Given the description of an element on the screen output the (x, y) to click on. 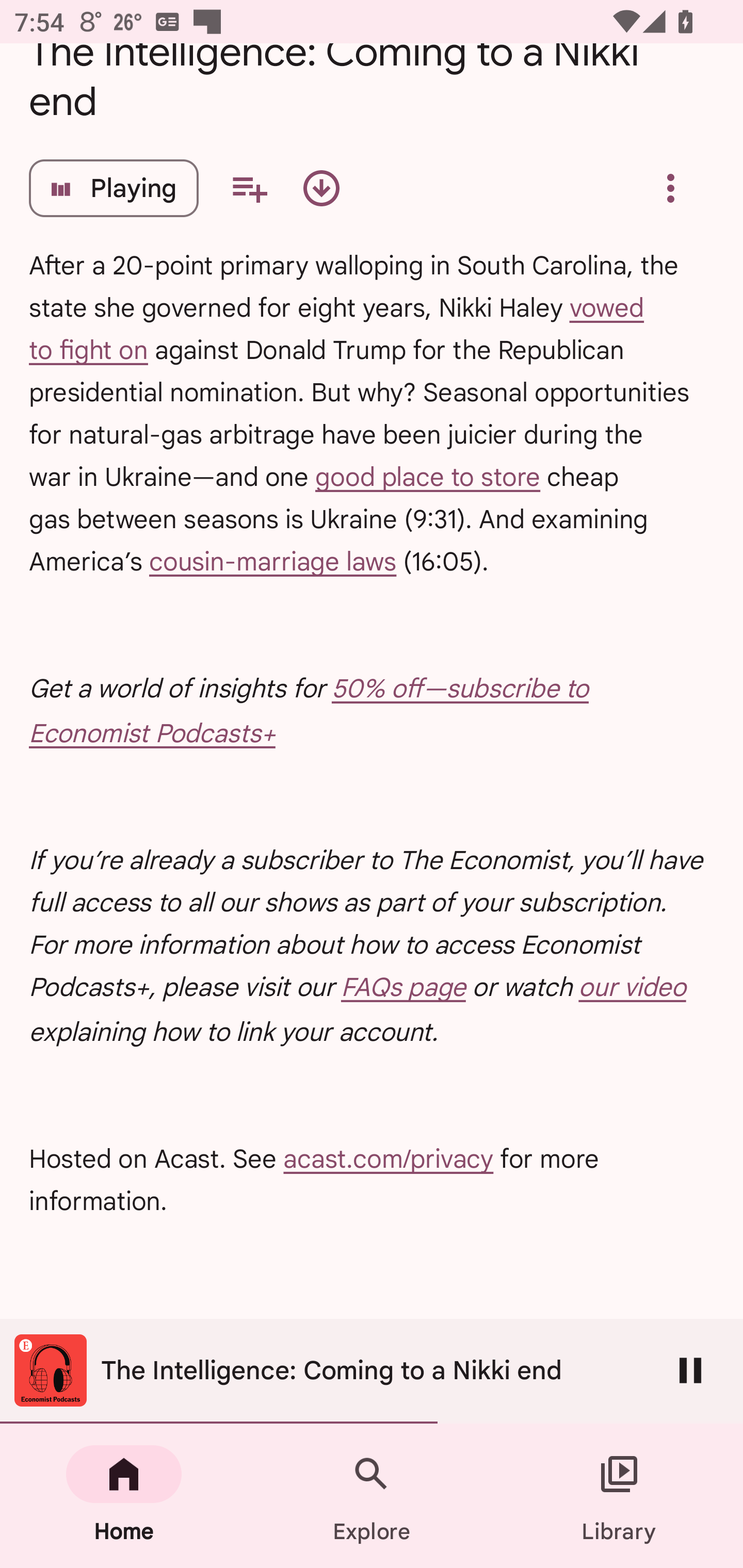
Add to your queue (249, 188)
Download episode (321, 188)
Overflow menu (670, 188)
Pause (690, 1370)
Explore (371, 1495)
Library (619, 1495)
